Given the description of an element on the screen output the (x, y) to click on. 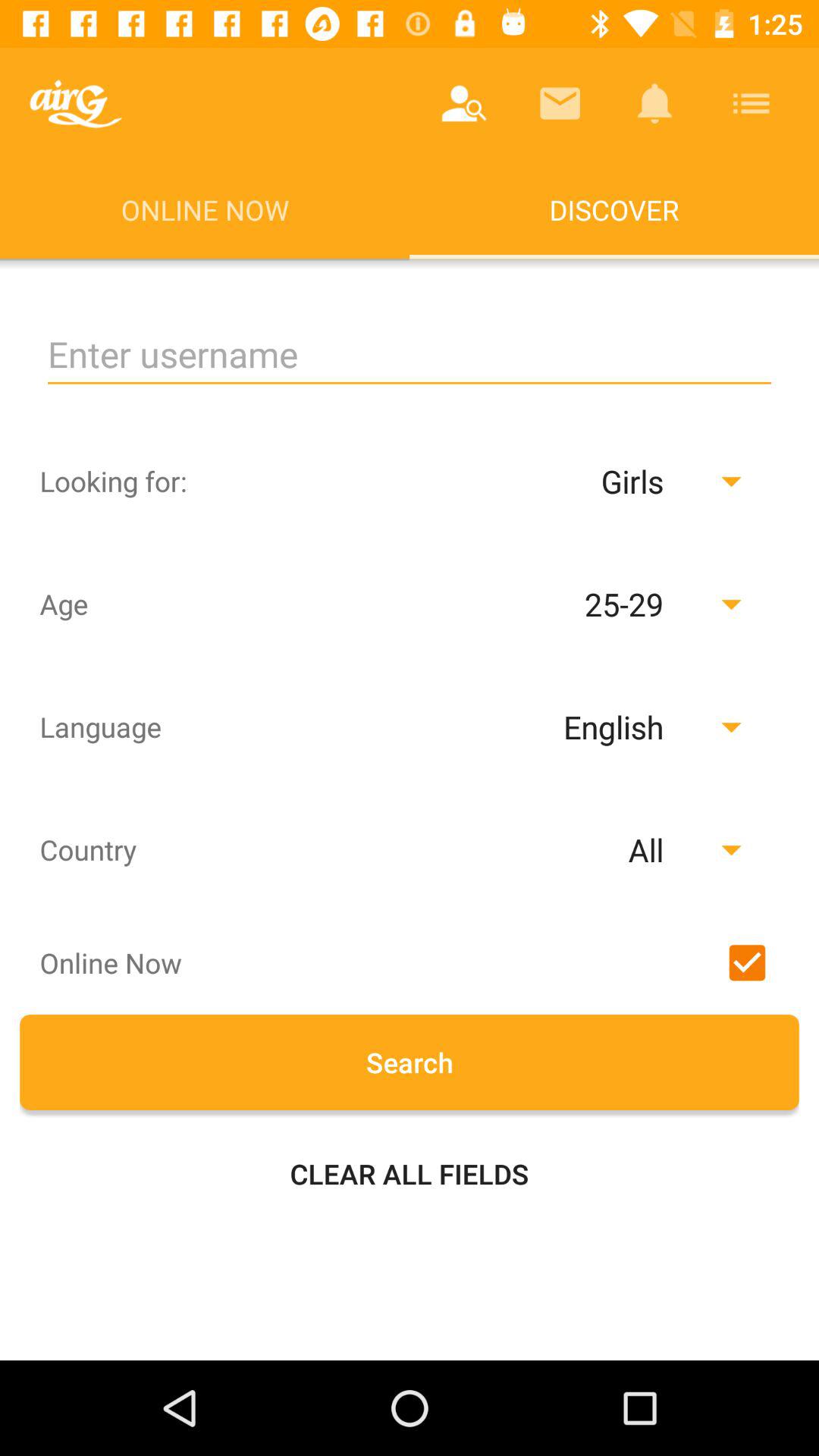
choose the item below online now (409, 354)
